Given the description of an element on the screen output the (x, y) to click on. 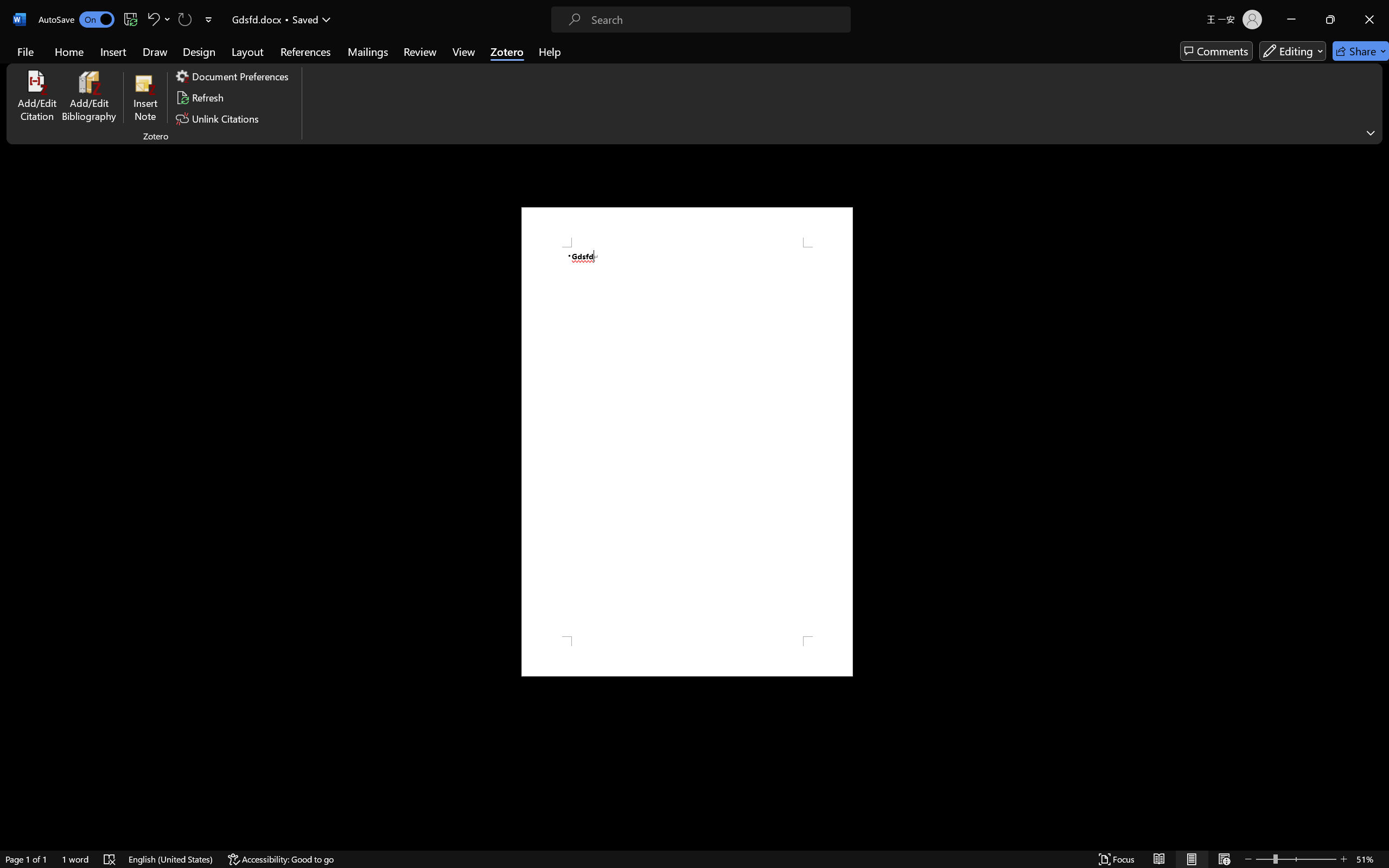
Page 1 content (686, 441)
